Given the description of an element on the screen output the (x, y) to click on. 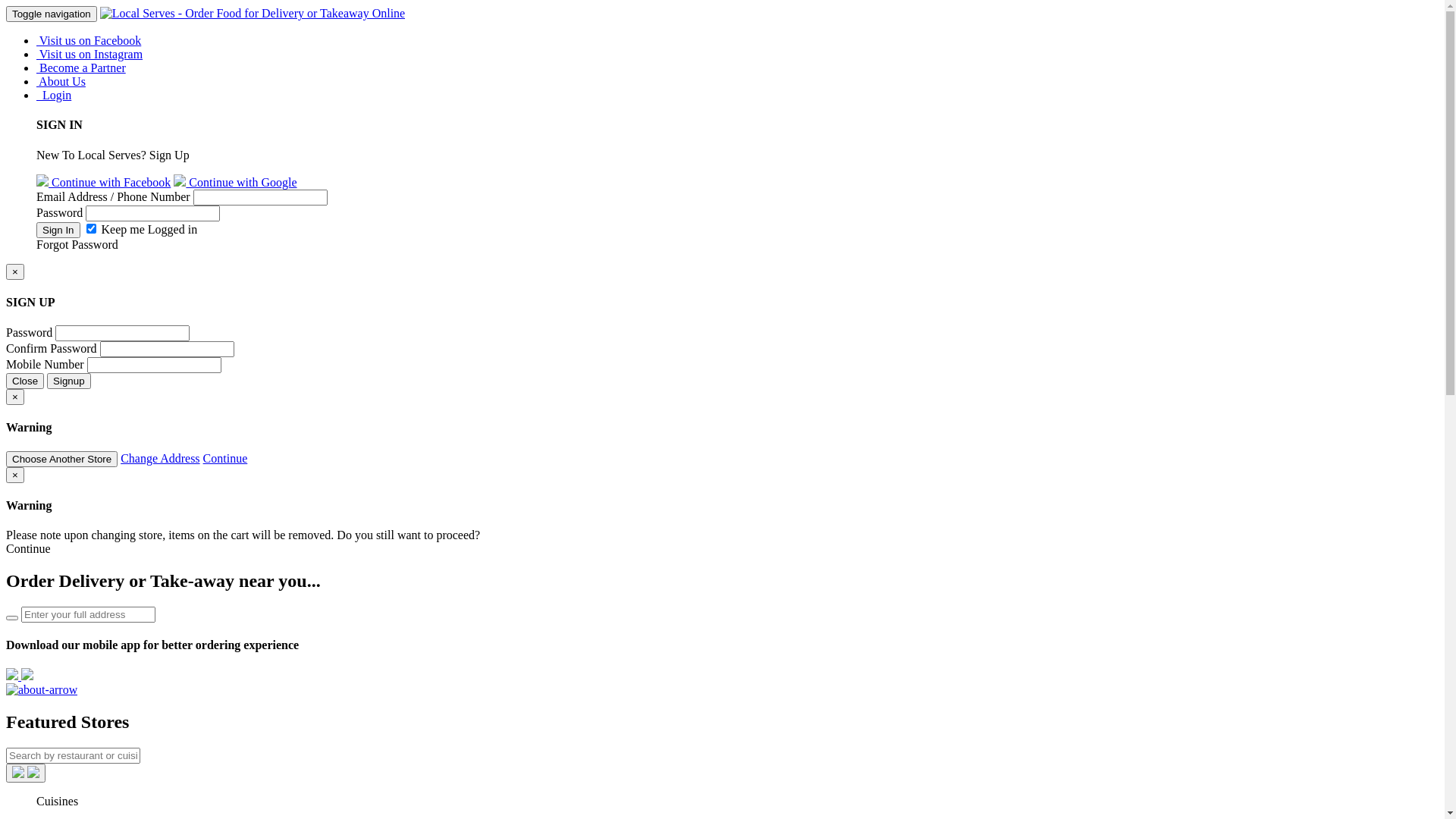
Continue Element type: text (28, 548)
Continue with Facebook Element type: text (103, 181)
Continue Element type: text (225, 457)
Close Element type: text (24, 381)
Signup Element type: text (69, 381)
 Become a Partner Element type: text (80, 67)
Continue with Google Element type: text (234, 181)
Toggle navigation Element type: text (51, 13)
  Login Element type: text (53, 94)
Sign In Element type: text (58, 230)
 Visit us on Instagram Element type: text (89, 53)
Change Address Element type: text (159, 457)
 About Us Element type: text (60, 81)
Choose Another Store Element type: text (61, 459)
 Visit us on Facebook Element type: text (88, 40)
